Given the description of an element on the screen output the (x, y) to click on. 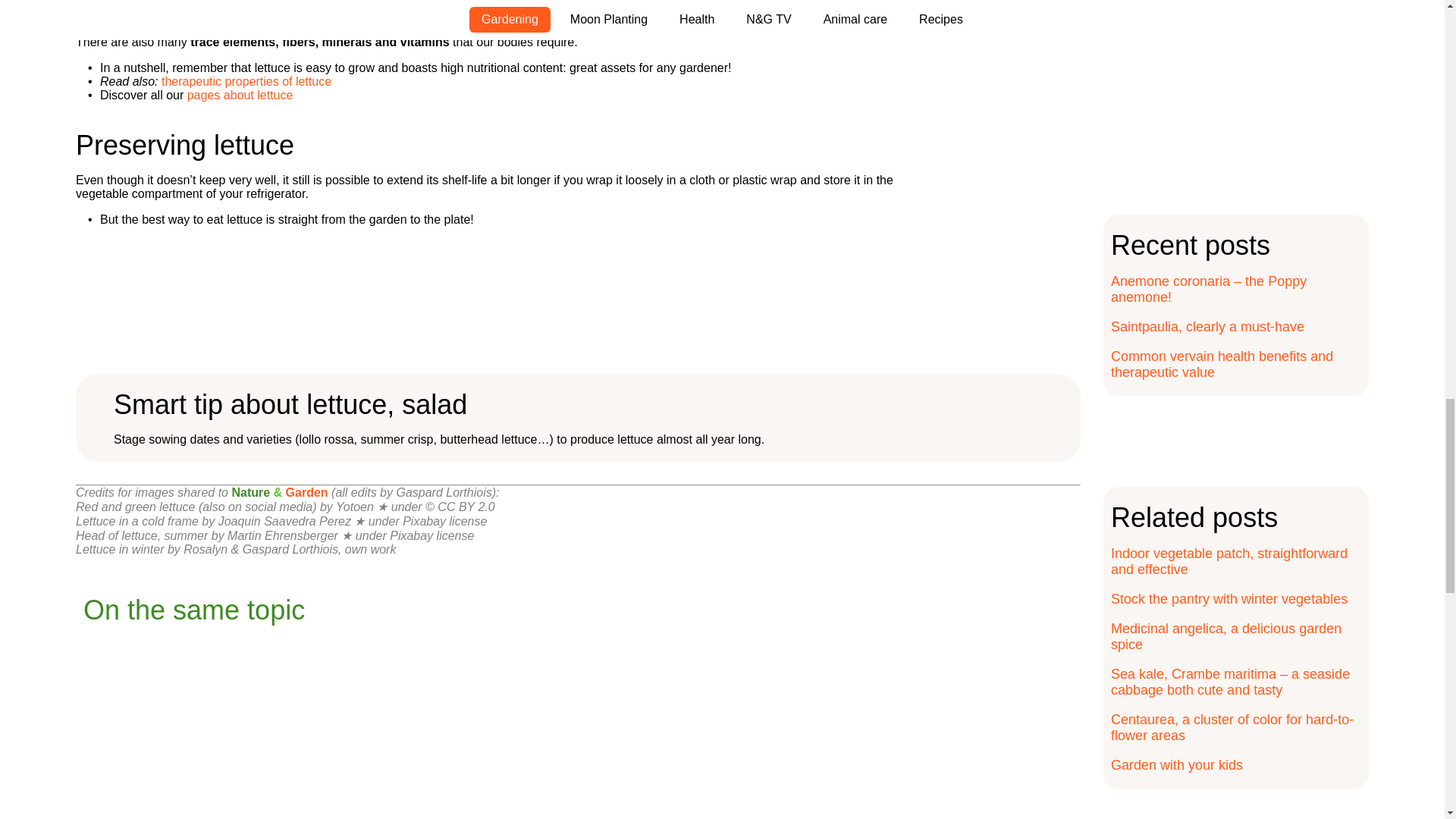
Round head of lettuce ready for harvest (141, 535)
Get to know Martin Ehrensberger (282, 535)
The many health benefits of lettuce (246, 81)
Creative Commons Attribution 2.0 Generic legal license (460, 506)
Different varieties of lettuce growing side by side (196, 506)
Get to know Yotoen (355, 506)
Pixabay legal license (444, 521)
Cold frame used to start sowing lettuce seedlings (136, 521)
Get to know Joaquin Saavedra Perez (284, 521)
